Given the description of an element on the screen output the (x, y) to click on. 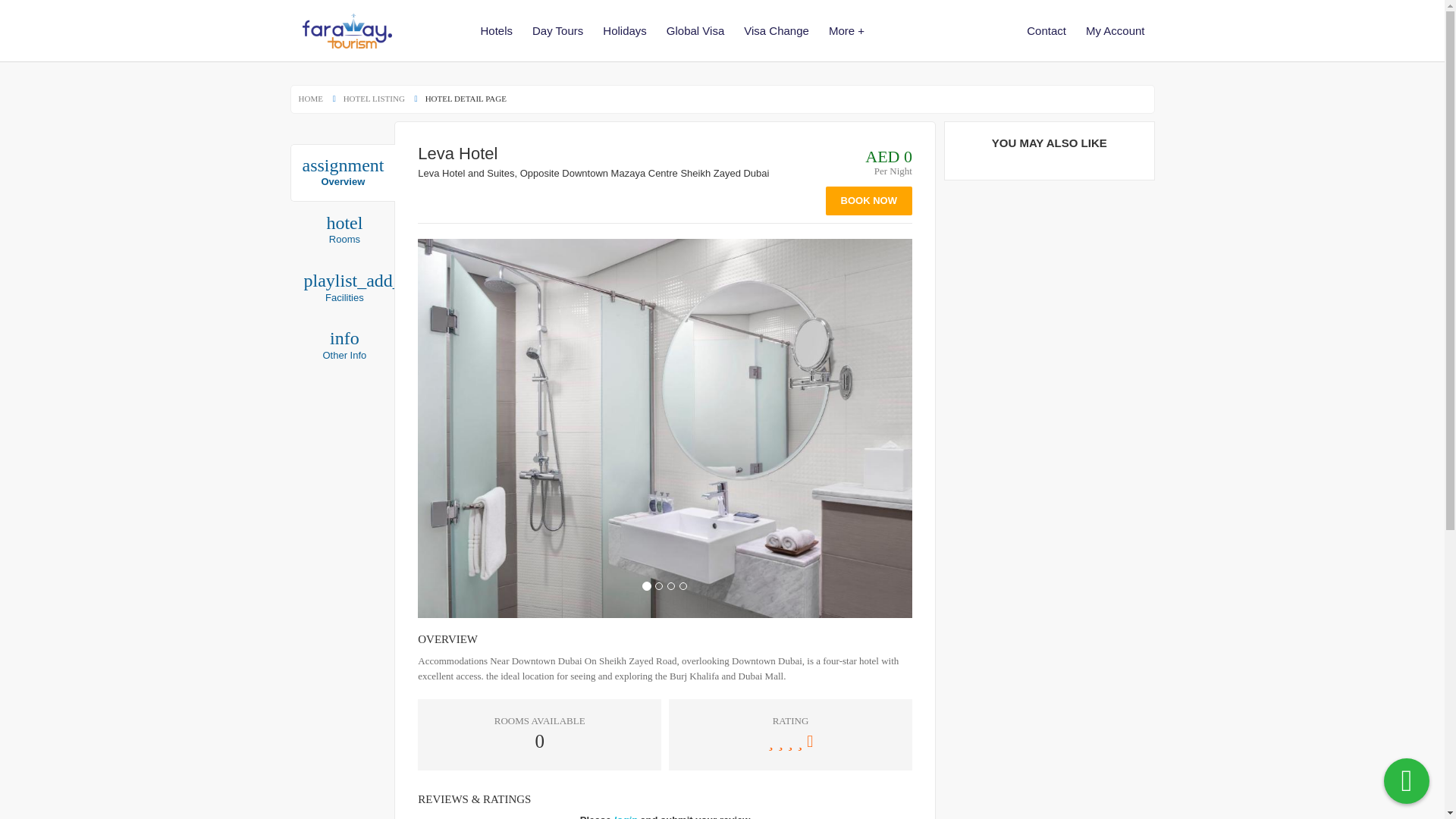
Global Visa (694, 30)
Contact (1045, 30)
My Account (341, 172)
Visa Change (1114, 30)
HOME (775, 30)
Day Tours (311, 98)
BOOK NOW (557, 30)
Holidays (343, 230)
HOTEL LISTING (343, 345)
